Given the description of an element on the screen output the (x, y) to click on. 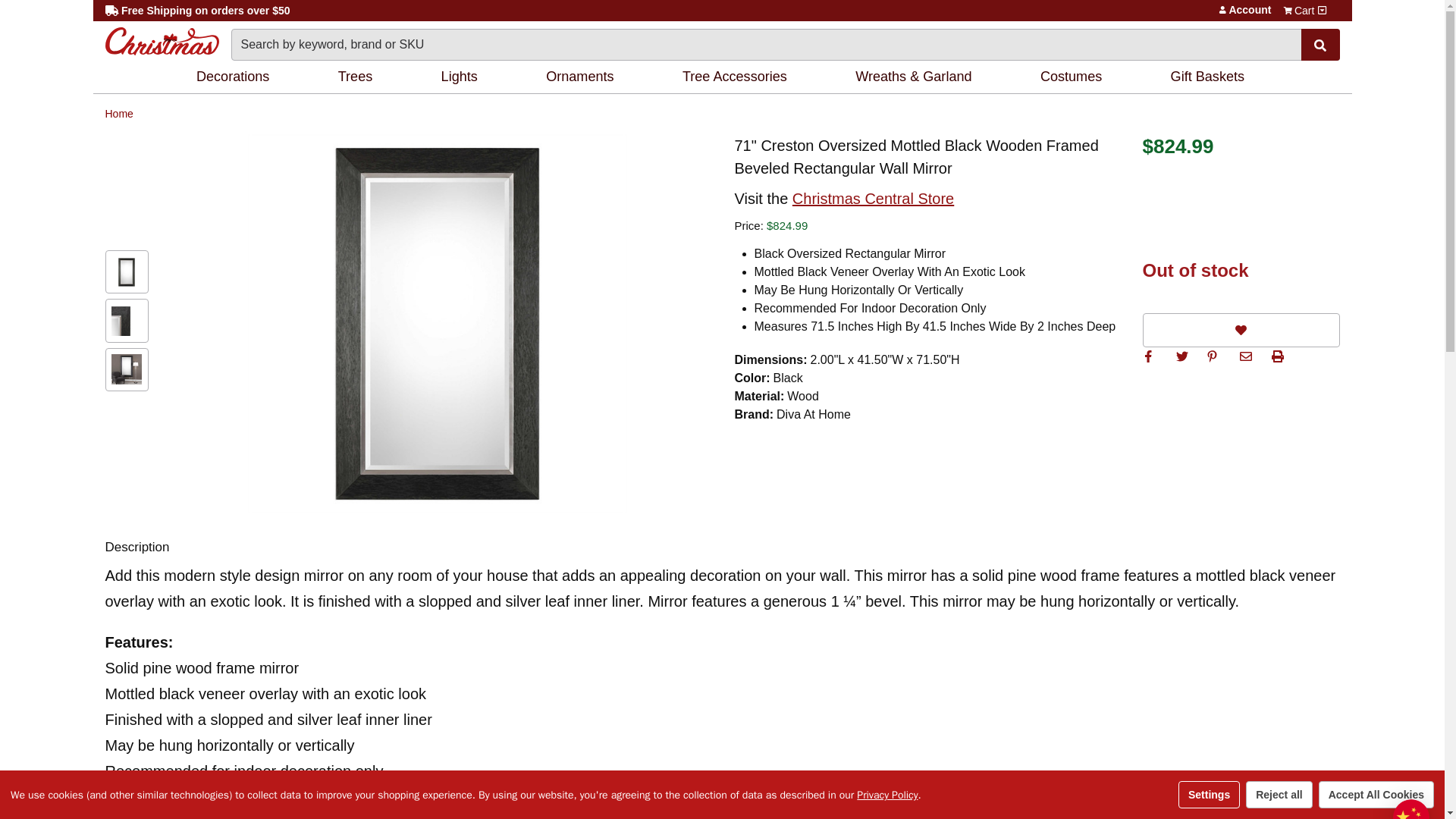
Account (1222, 9)
Account (1222, 9)
Decorations (234, 76)
